Given the description of an element on the screen output the (x, y) to click on. 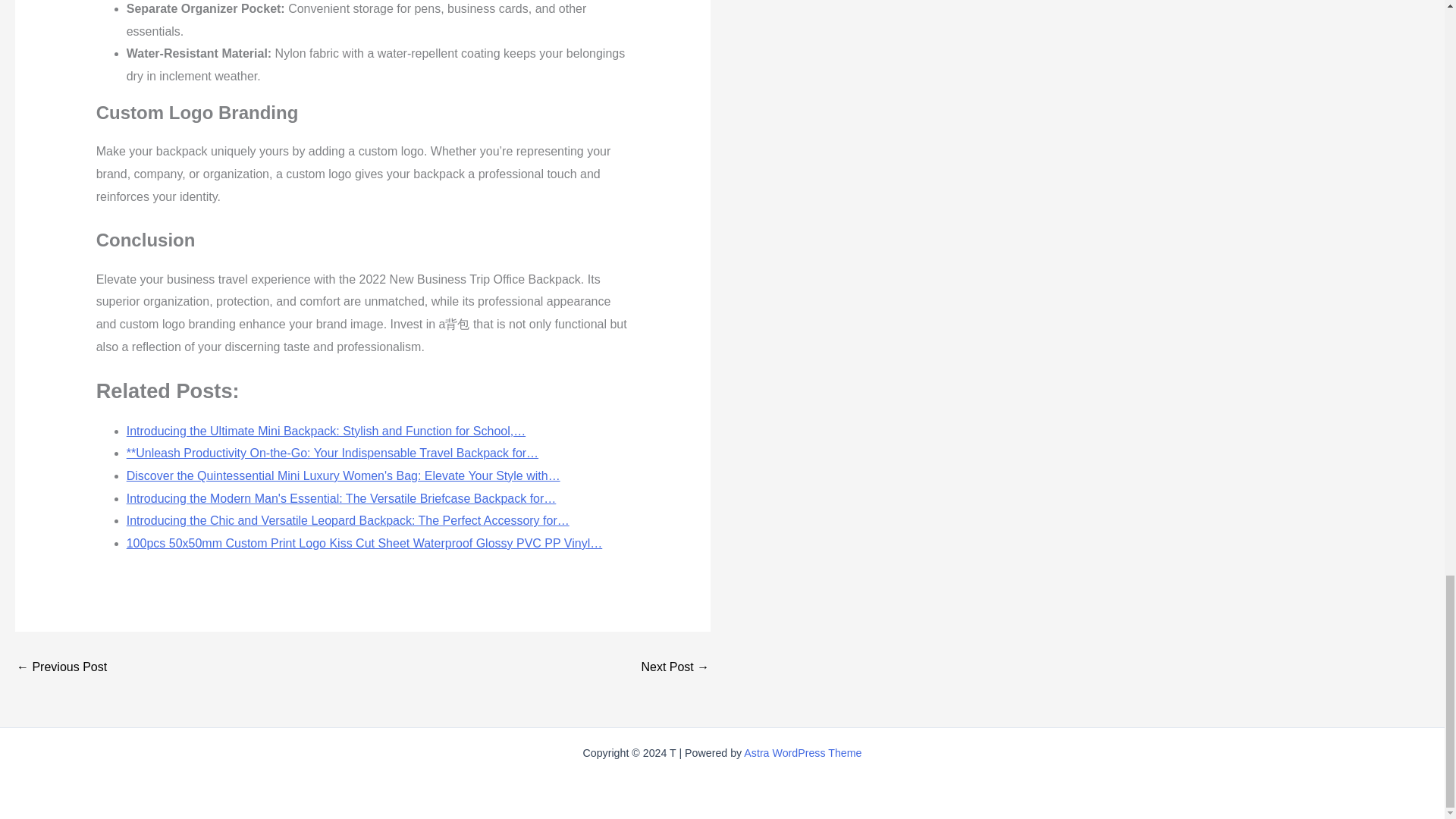
Astra WordPress Theme (802, 752)
